Given the description of an element on the screen output the (x, y) to click on. 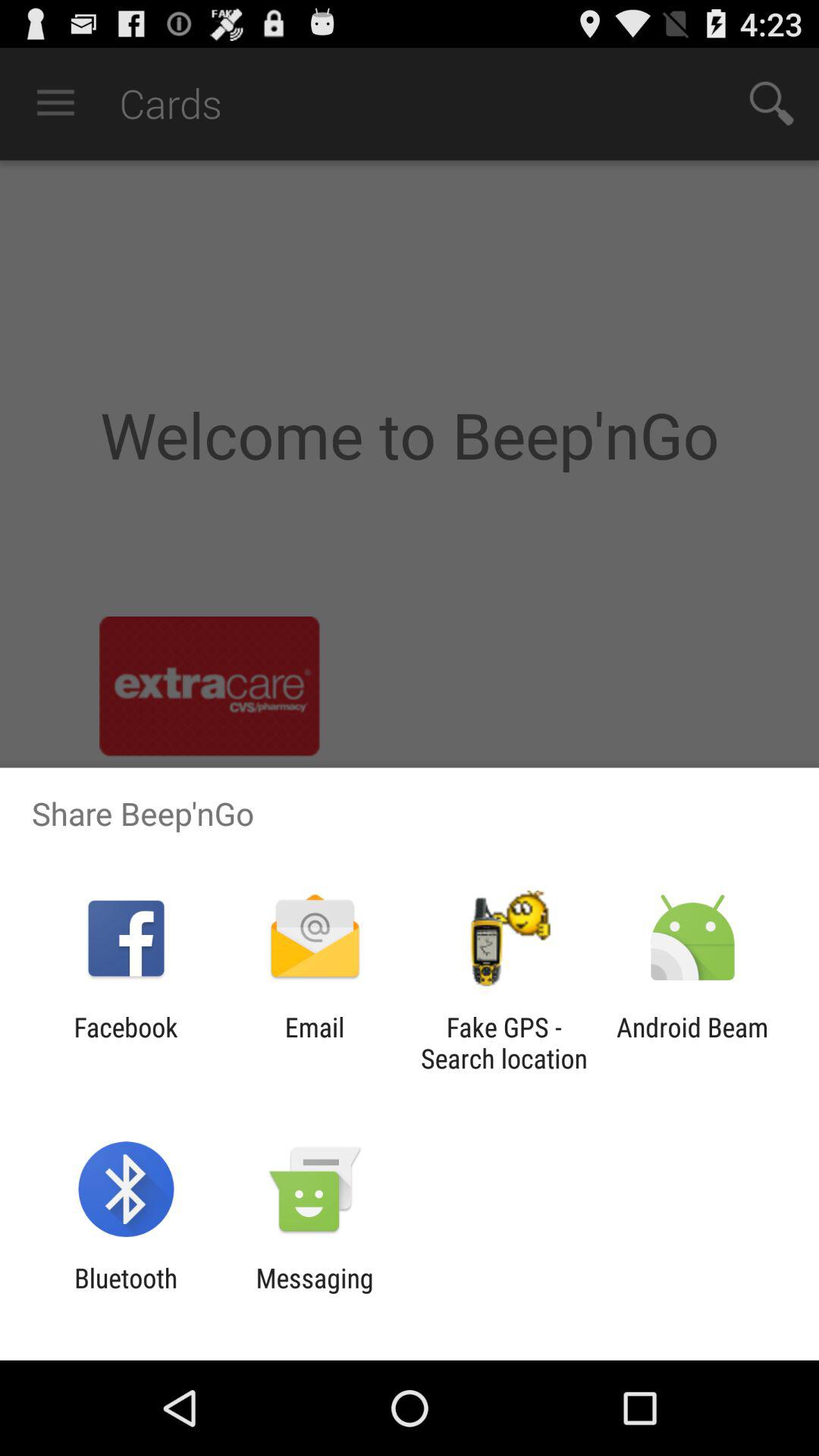
launch the icon next to the email (125, 1042)
